Given the description of an element on the screen output the (x, y) to click on. 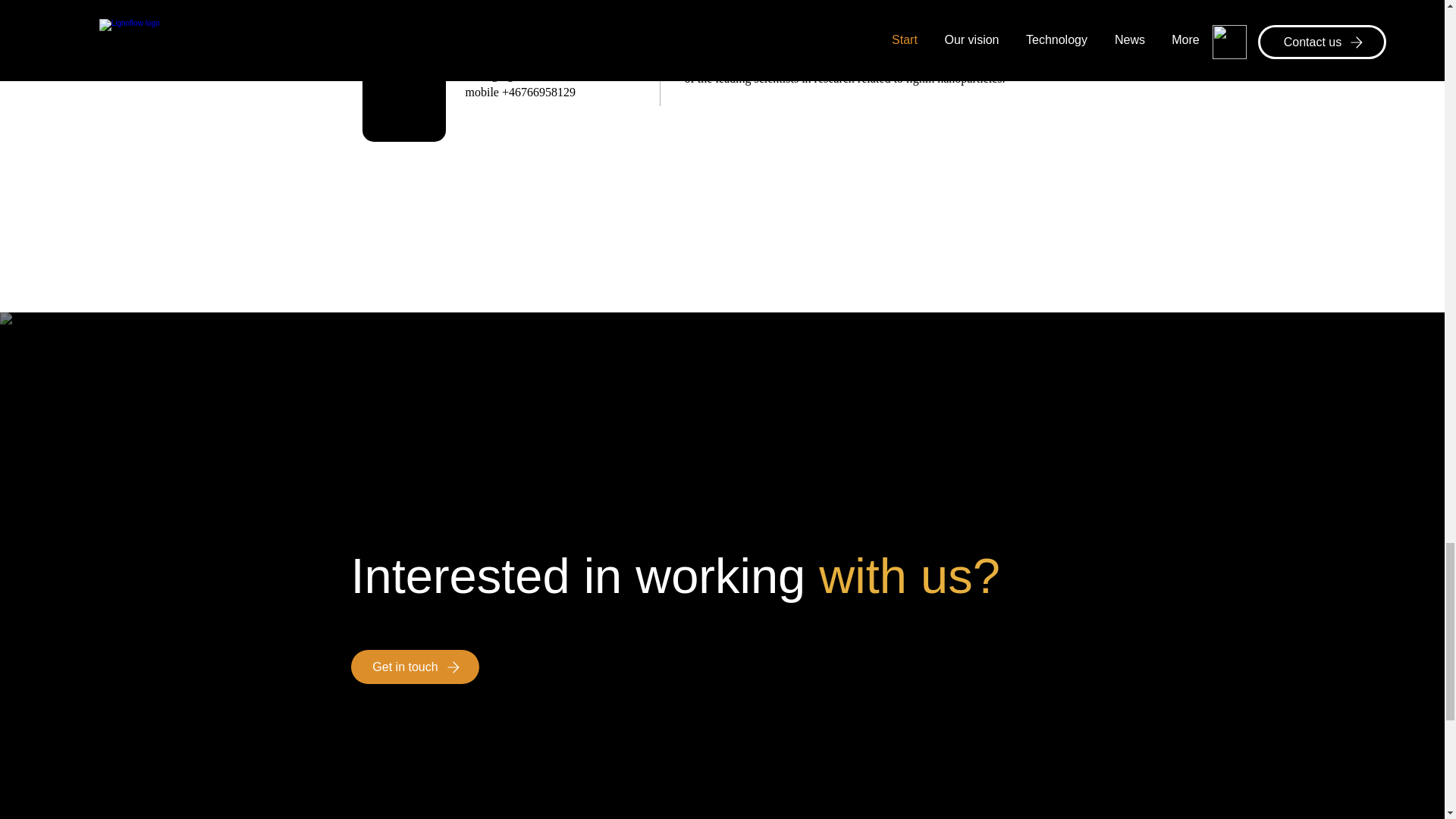
Get in touch (414, 666)
